Given the description of an element on the screen output the (x, y) to click on. 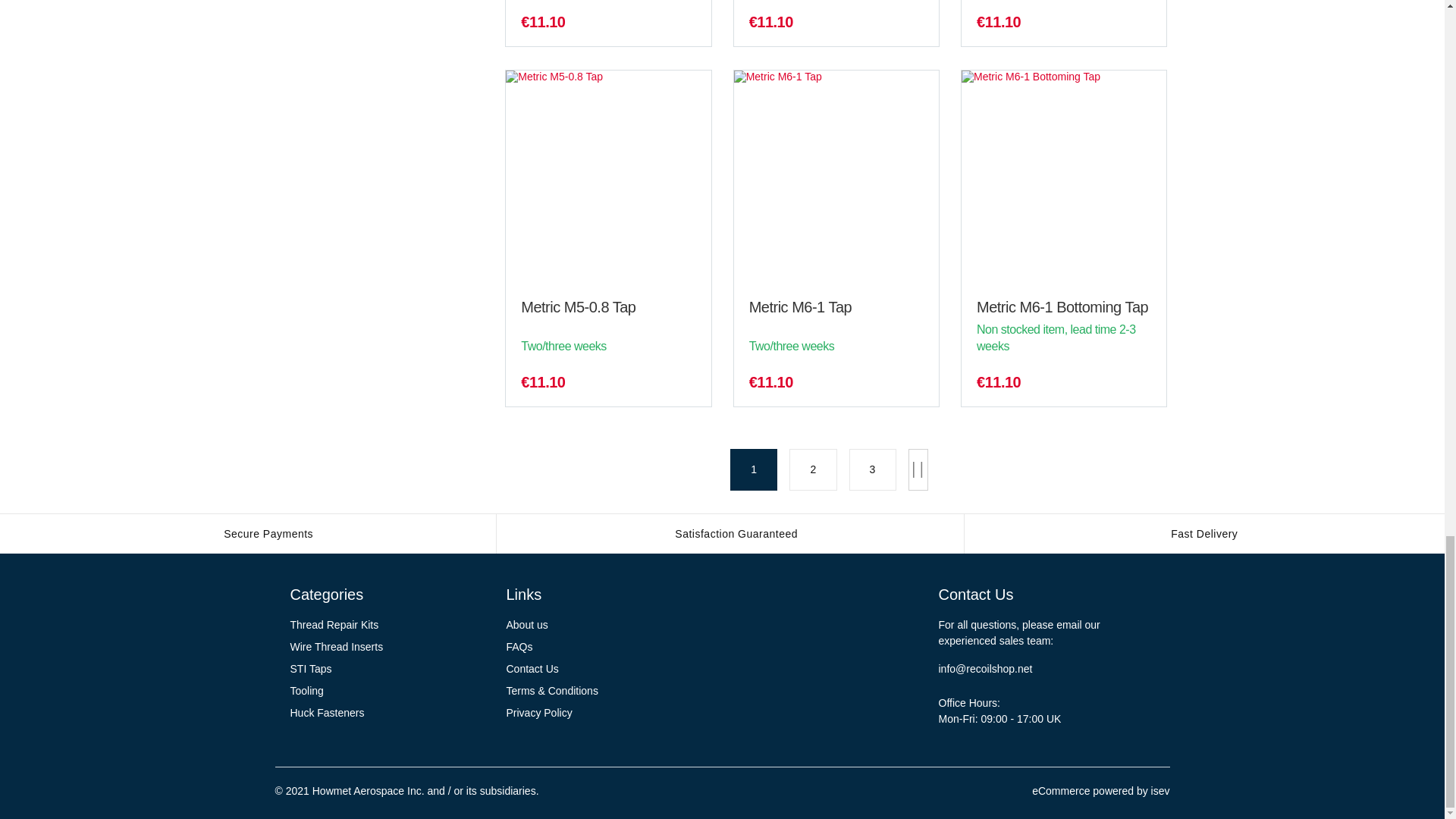
Linkedin (812, 663)
Twitter (777, 663)
Youtube (847, 663)
